Given the description of an element on the screen output the (x, y) to click on. 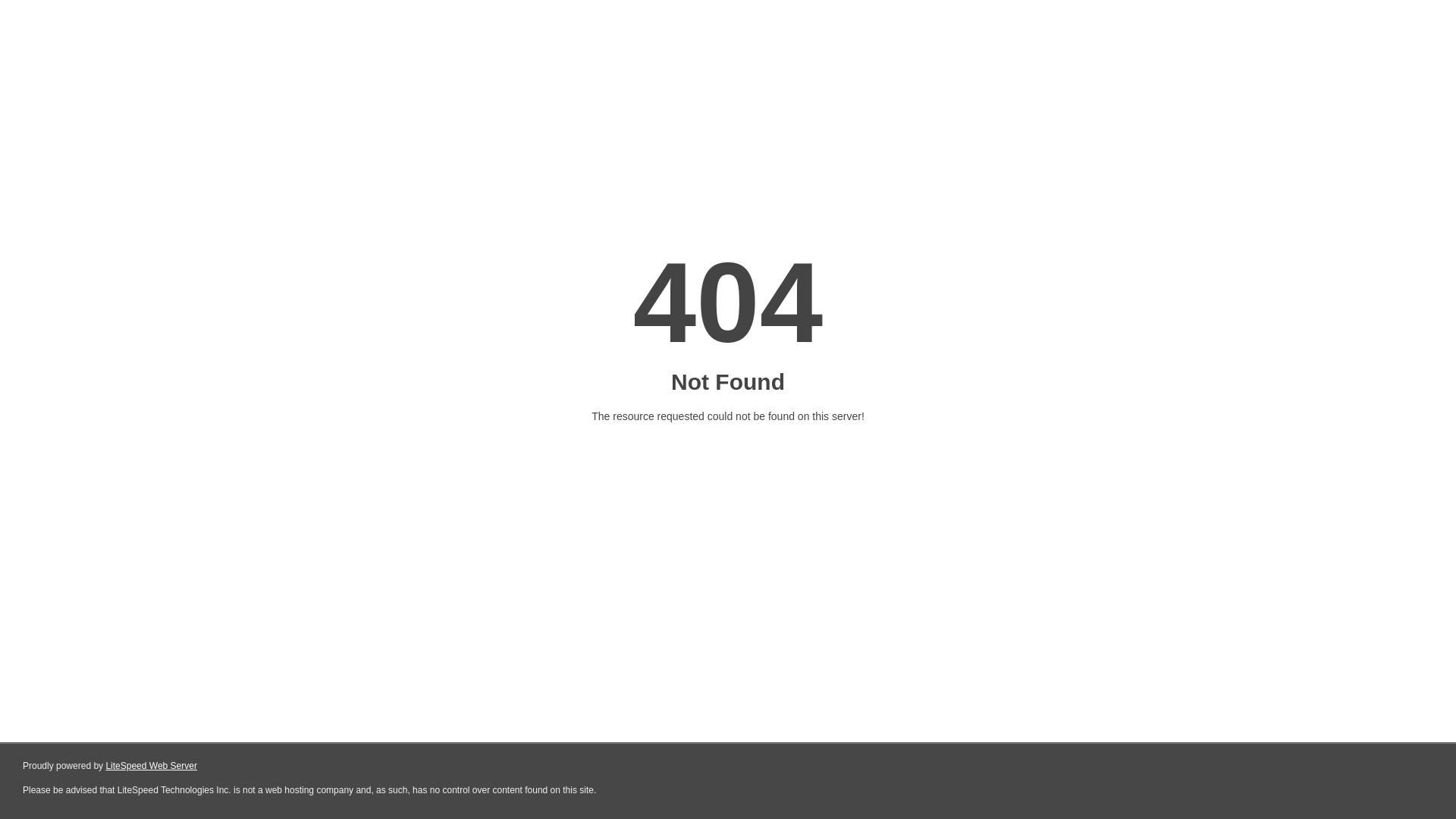
LiteSpeed Web Server Element type: text (151, 765)
